Given the description of an element on the screen output the (x, y) to click on. 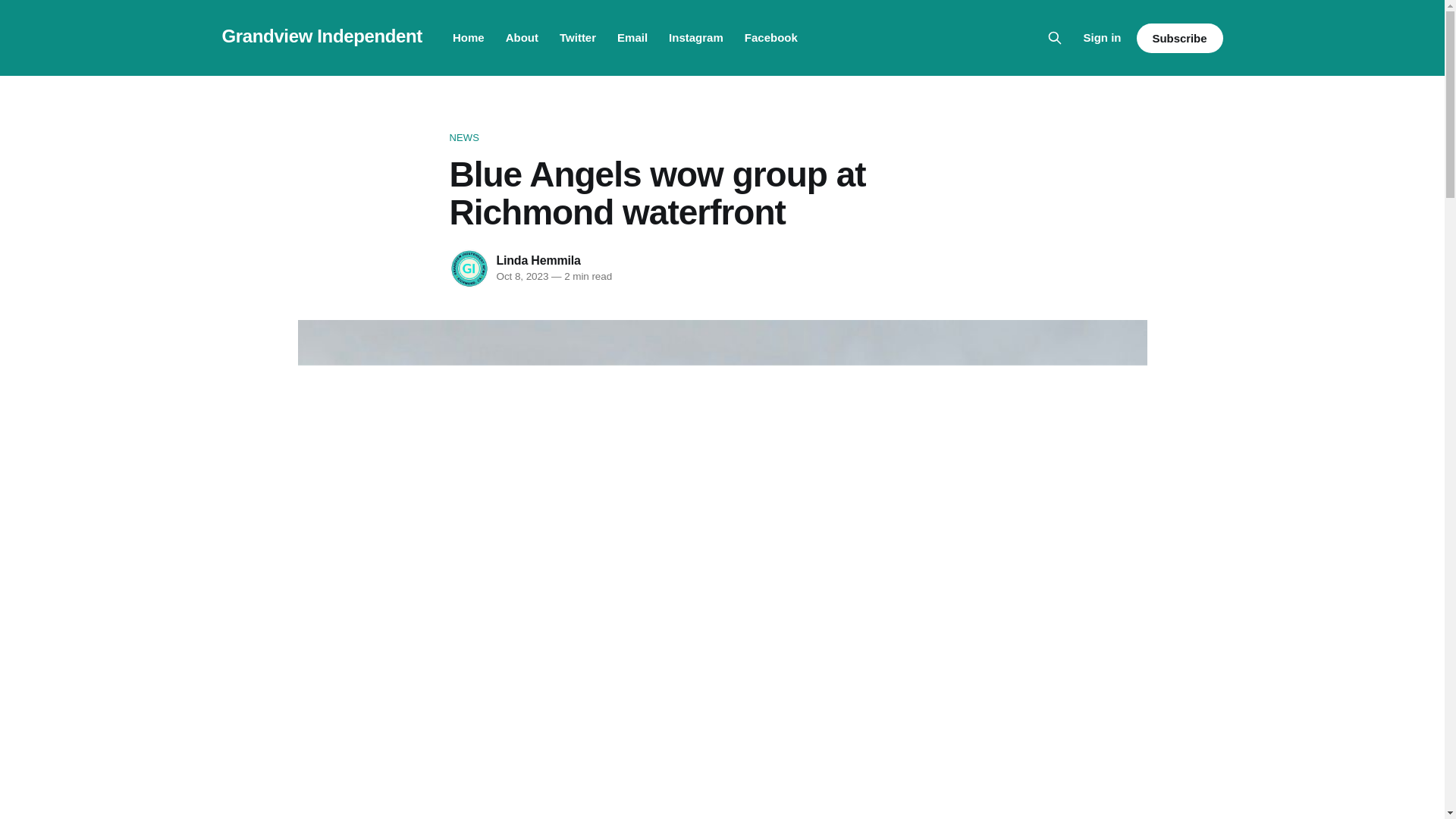
Instagram (695, 37)
About (521, 37)
Subscribe (1179, 37)
NEWS (721, 138)
Email (632, 37)
Home (468, 37)
Facebook (770, 37)
Sign in (1102, 37)
Linda Hemmila (537, 259)
Grandview Independent (321, 35)
